Given the description of an element on the screen output the (x, y) to click on. 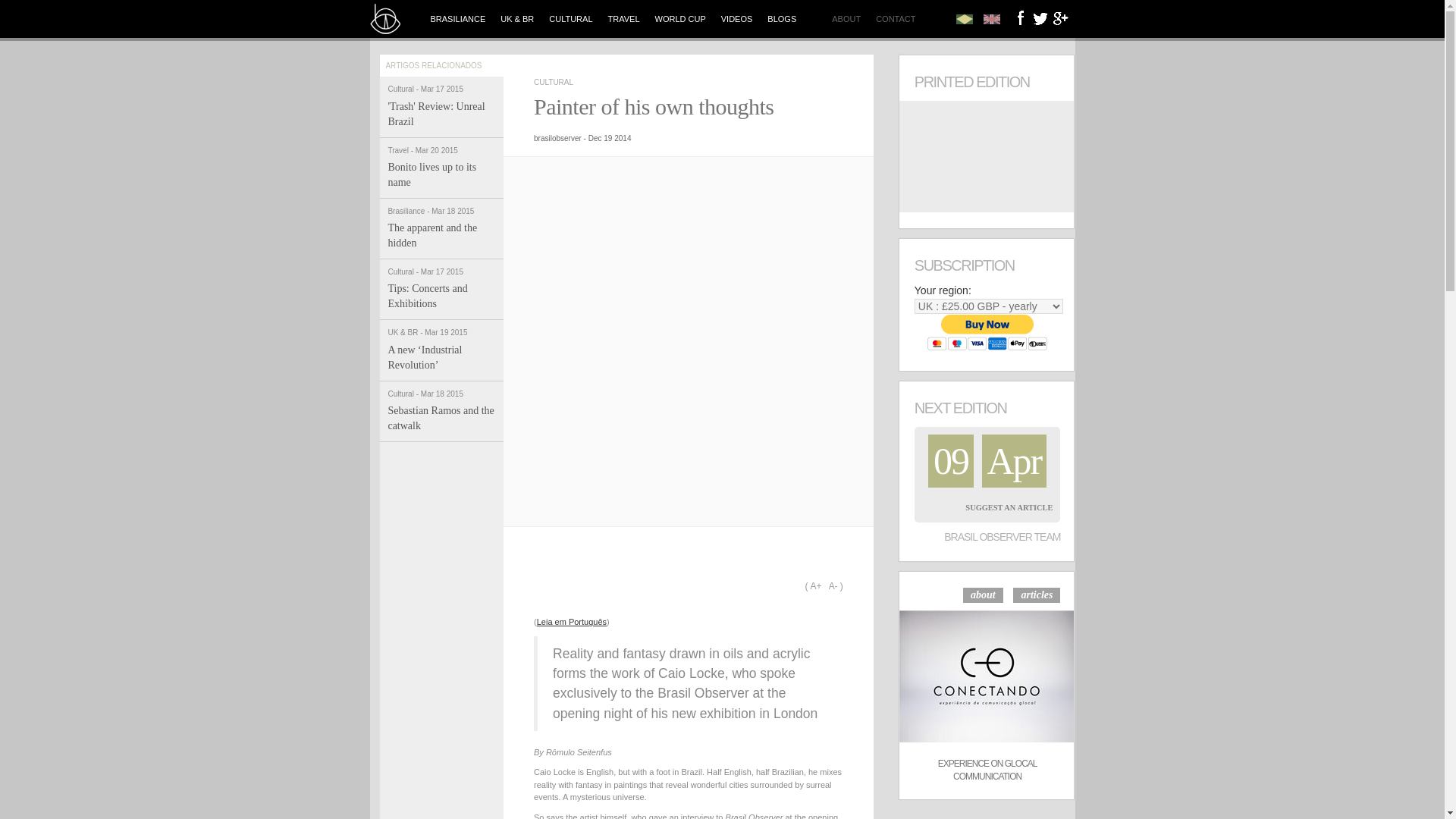
about (982, 595)
BRASILIANCE (458, 18)
TRAVEL (623, 18)
articles (1036, 595)
CONTACT (895, 18)
CULTURAL (441, 229)
SUGGEST AN ARTICLE (553, 81)
VIDEOS (1008, 507)
A- (736, 18)
